Given the description of an element on the screen output the (x, y) to click on. 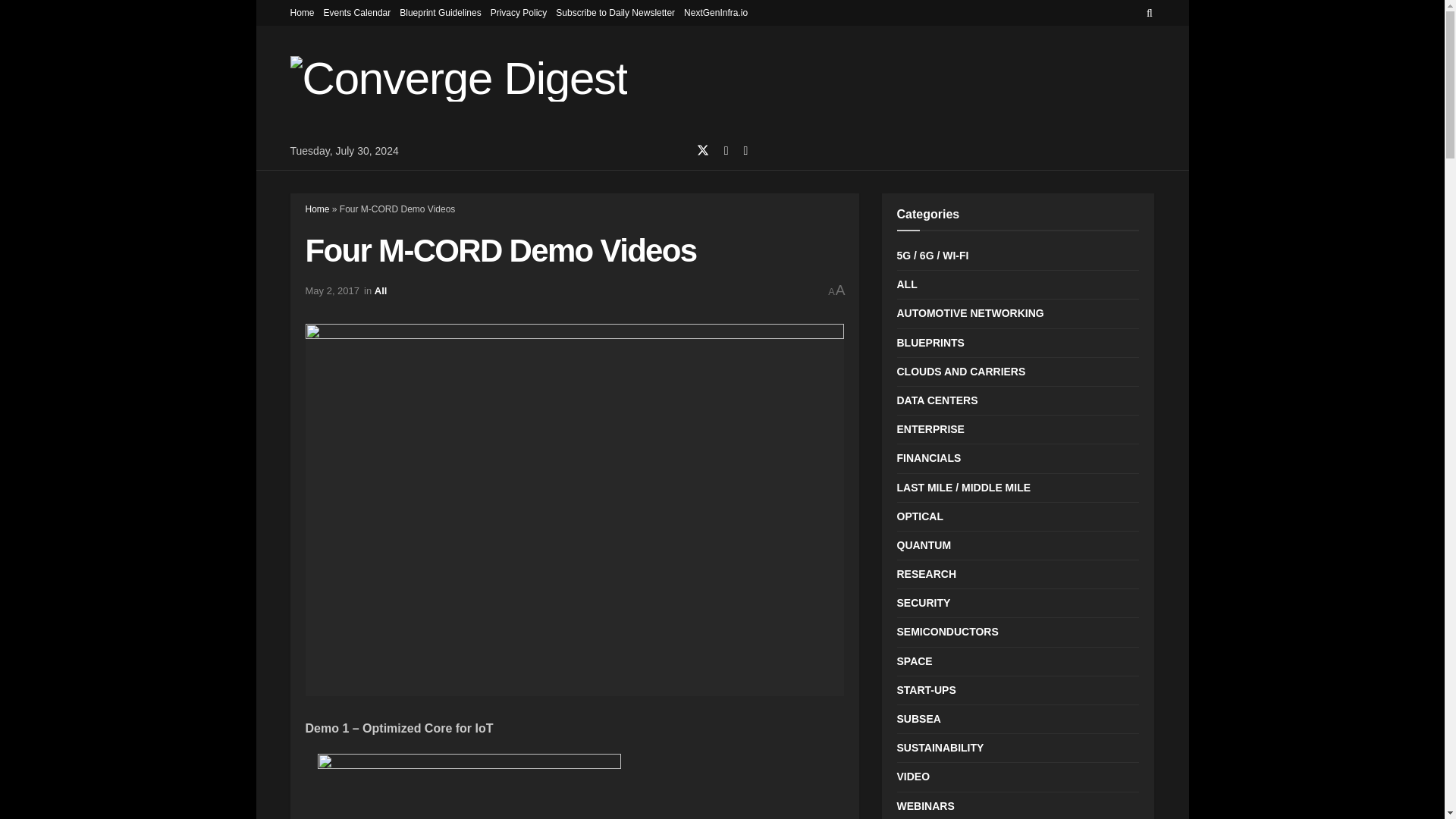
Home (301, 12)
Home (316, 208)
Blueprint Guidelines (439, 12)
Events Calendar (357, 12)
Privacy Policy (518, 12)
May 2, 2017 (331, 290)
NextGenInfra.io (716, 12)
All (380, 290)
Subscribe to Daily Newsletter (615, 12)
